Given the description of an element on the screen output the (x, y) to click on. 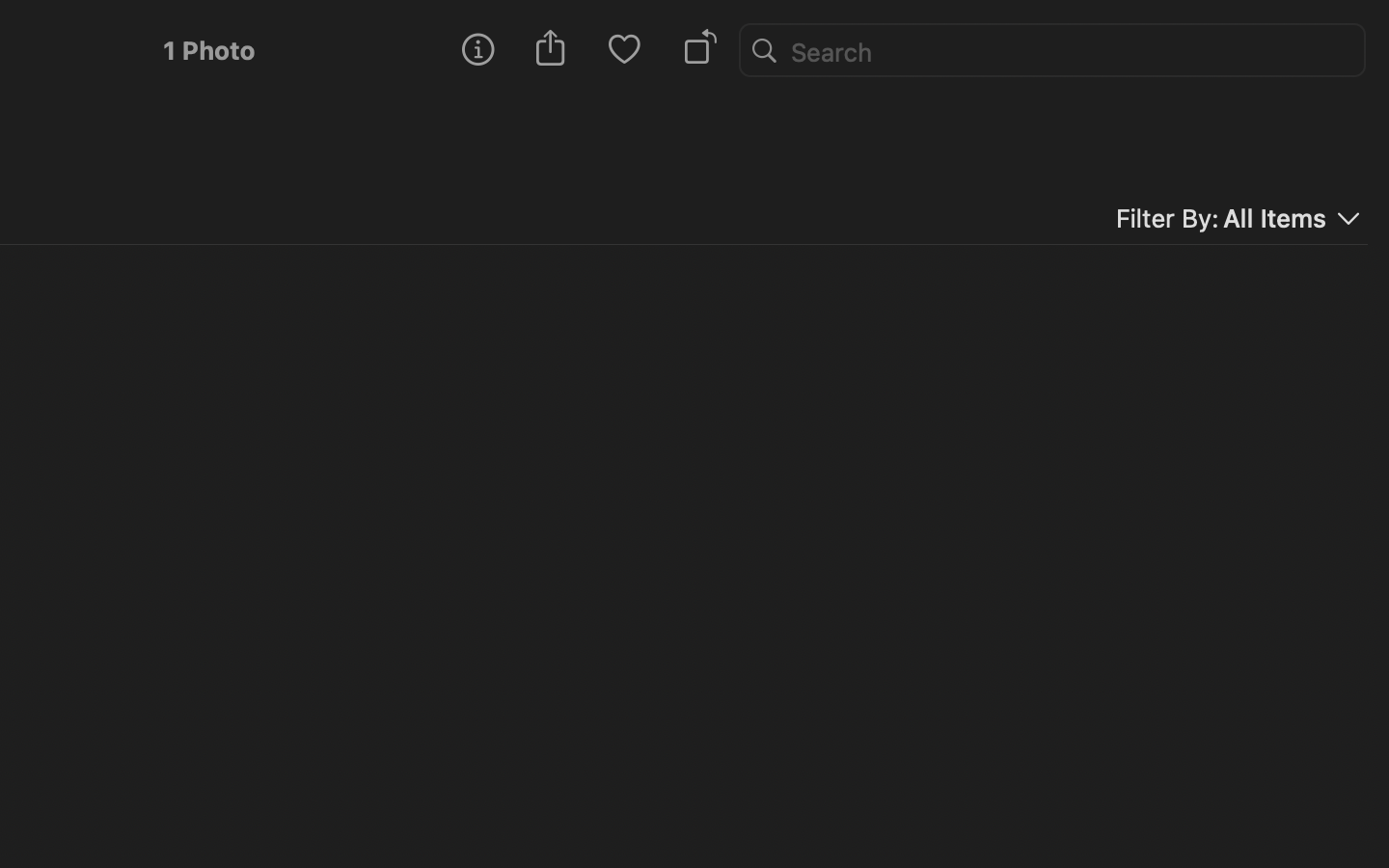
Filter By: Element type: AXStaticText (1166, 217)
0 Element type: AXCheckBox (623, 50)
1 Photo Element type: AXStaticText (208, 49)
